Given the description of an element on the screen output the (x, y) to click on. 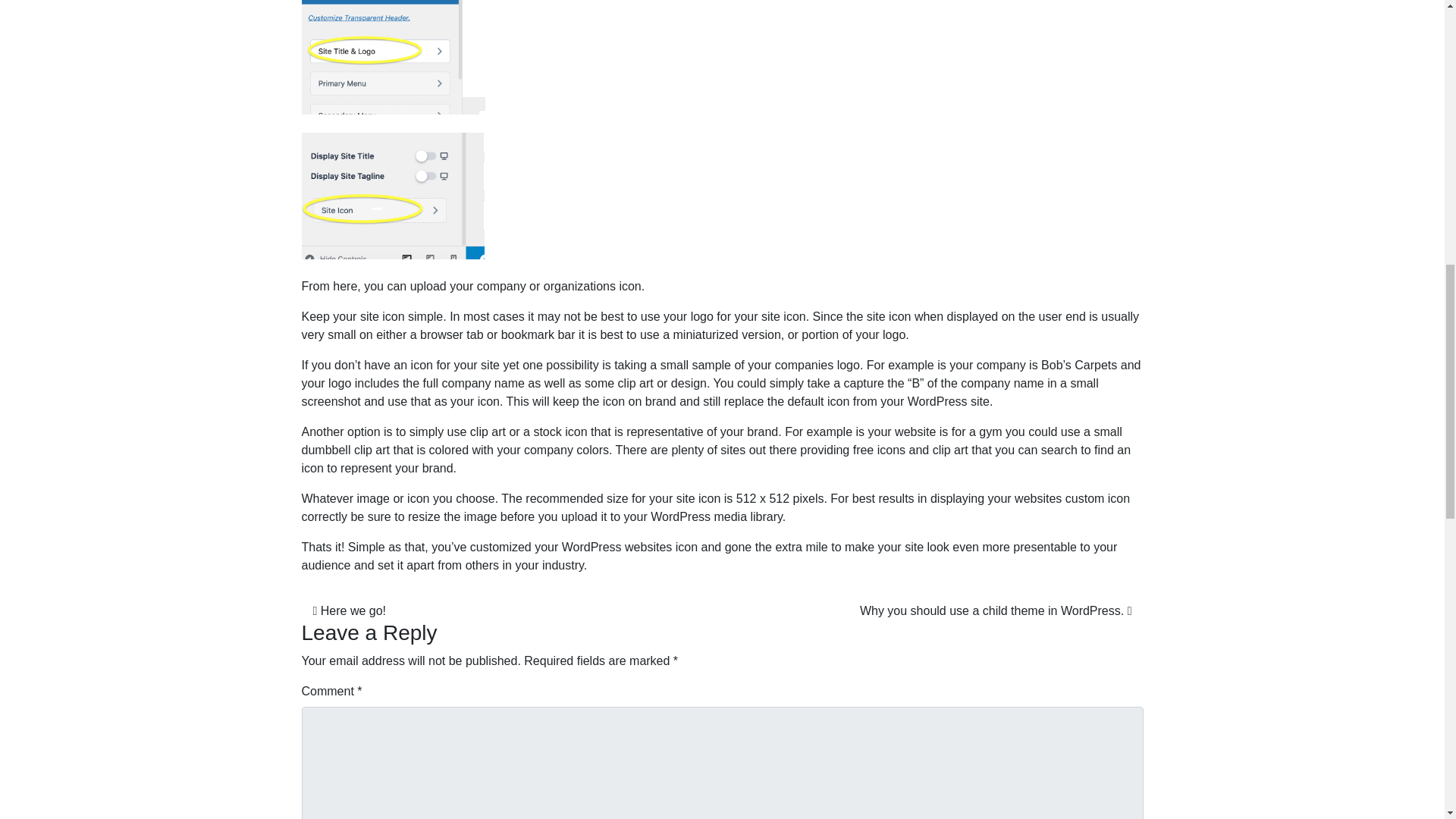
 Here we go! (349, 610)
Why you should use a child theme in WordPress.  (996, 610)
